Given the description of an element on the screen output the (x, y) to click on. 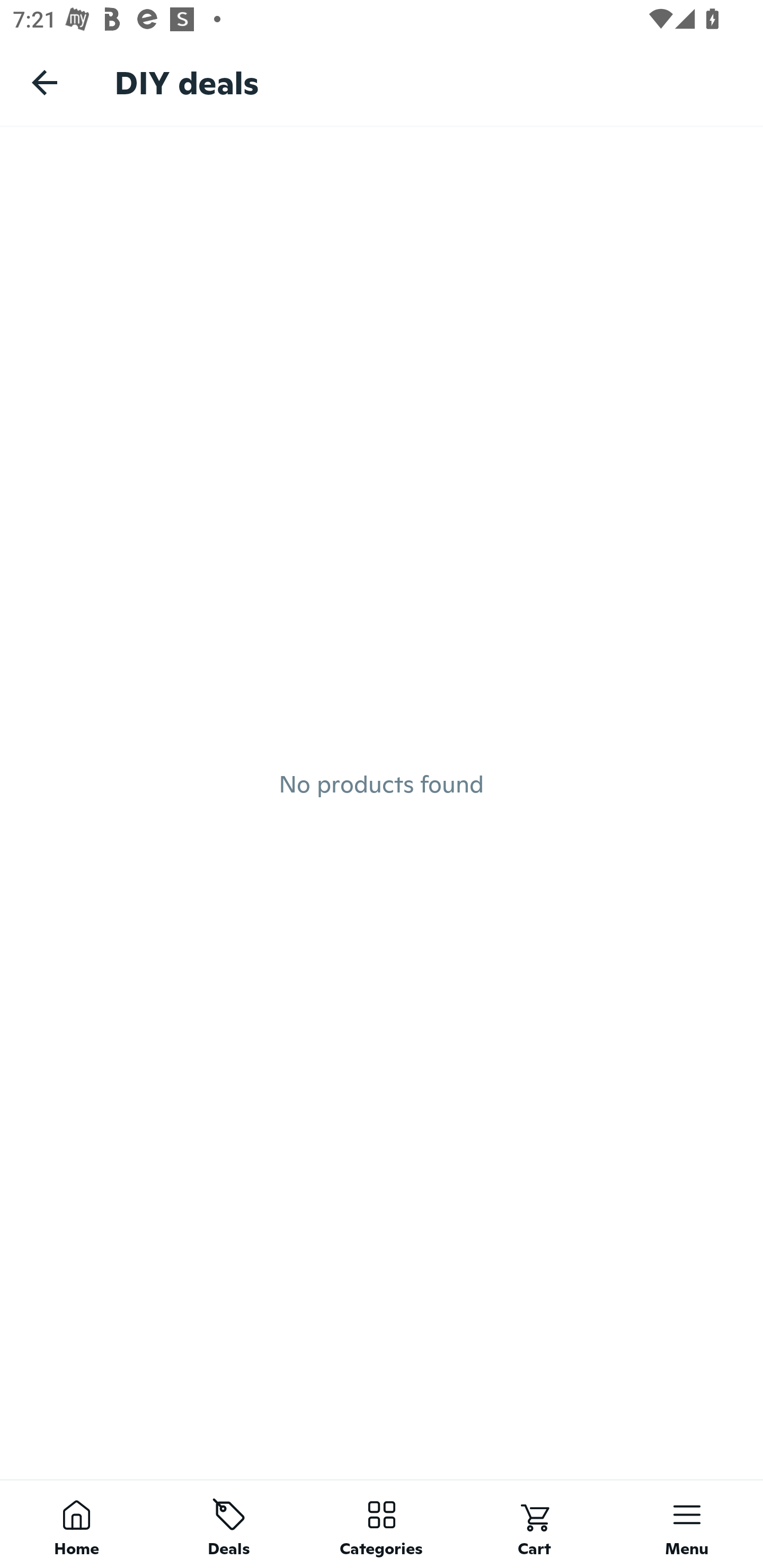
Navigate up (44, 82)
Home (76, 1523)
Deals (228, 1523)
Categories (381, 1523)
Cart (533, 1523)
Menu (686, 1523)
